Given the description of an element on the screen output the (x, y) to click on. 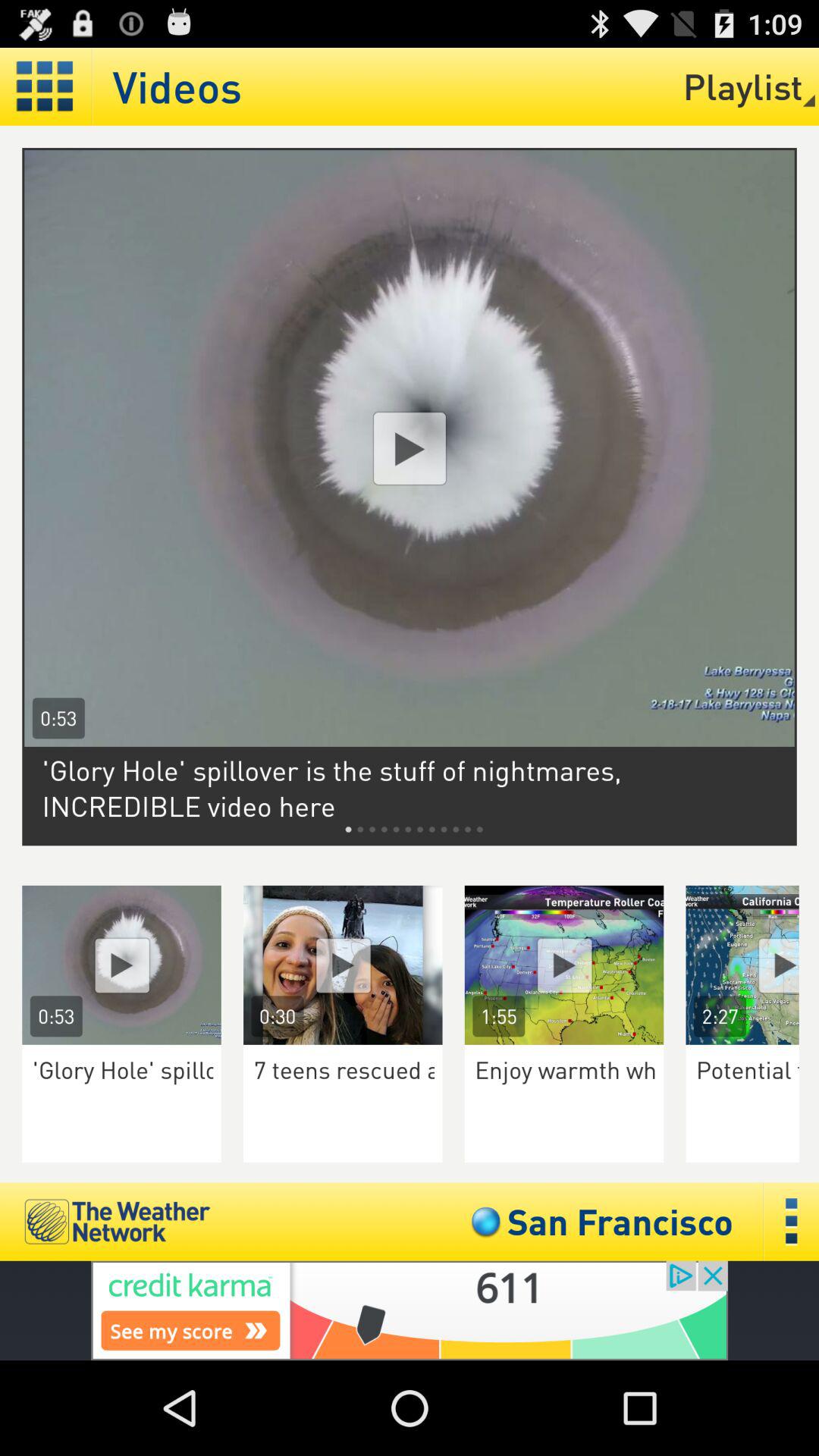
play video (563, 964)
